Given the description of an element on the screen output the (x, y) to click on. 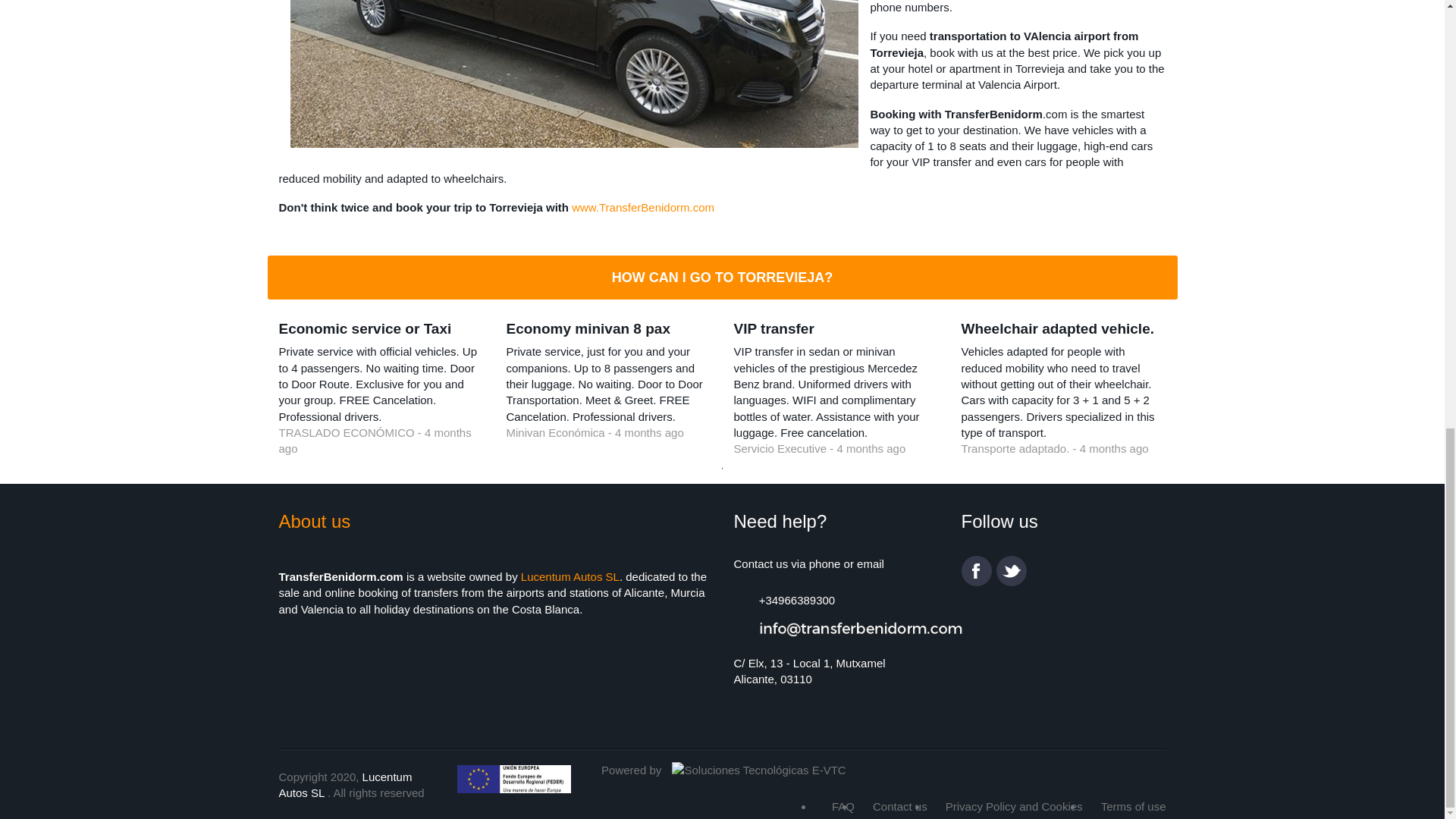
Contact us (899, 806)
FAQ (842, 806)
Lucentum Autos SL (570, 576)
1 (721, 468)
Privacy Policy and Cookies (1013, 806)
twitter (1010, 571)
Terms of use (1133, 806)
Twitter (1010, 571)
Facebook (975, 571)
About us (314, 521)
facebook (975, 571)
www.TransferBenidorm.com (643, 206)
